Given the description of an element on the screen output the (x, y) to click on. 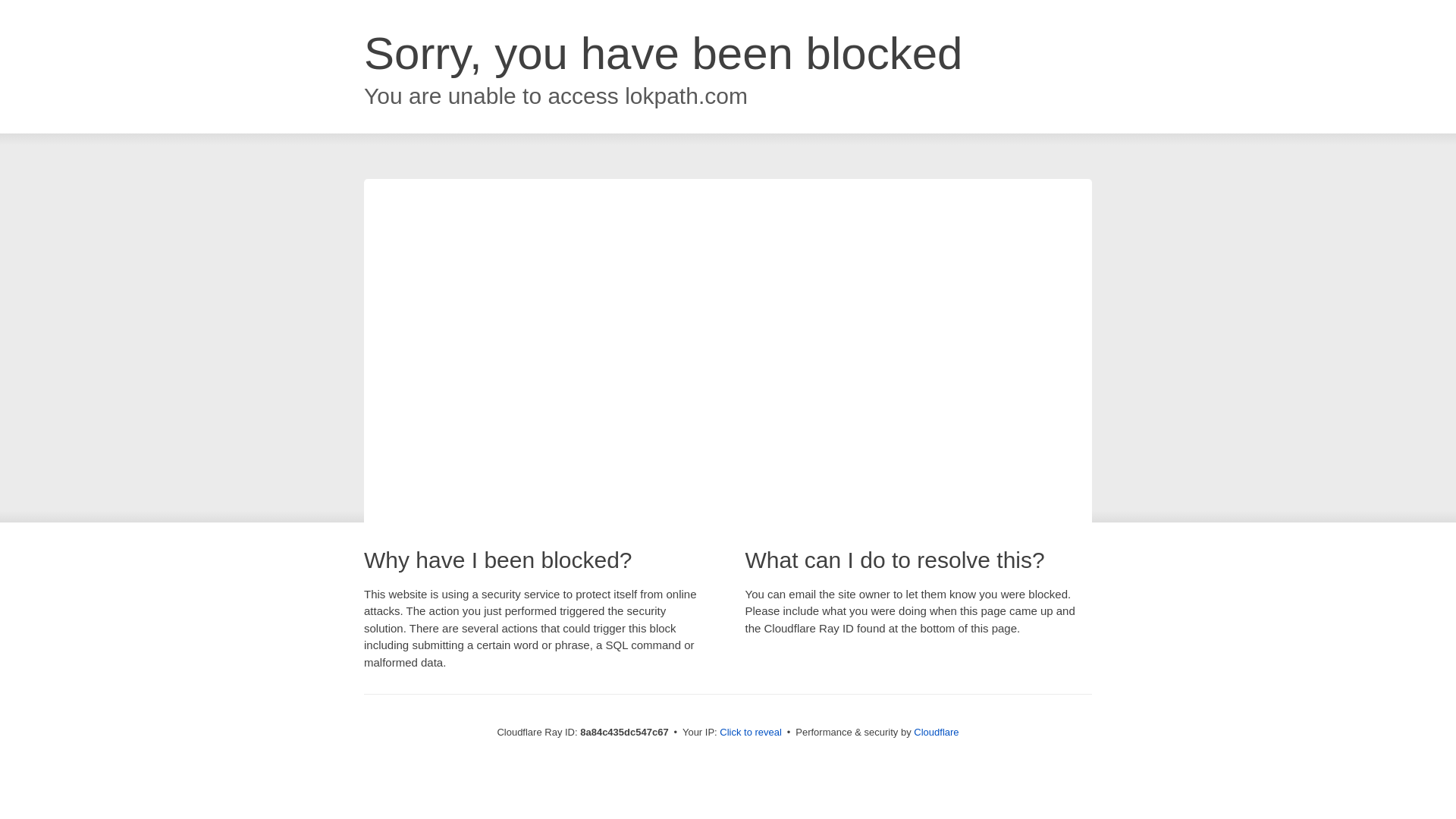
Cloudflare (936, 731)
Click to reveal (750, 732)
